Given the description of an element on the screen output the (x, y) to click on. 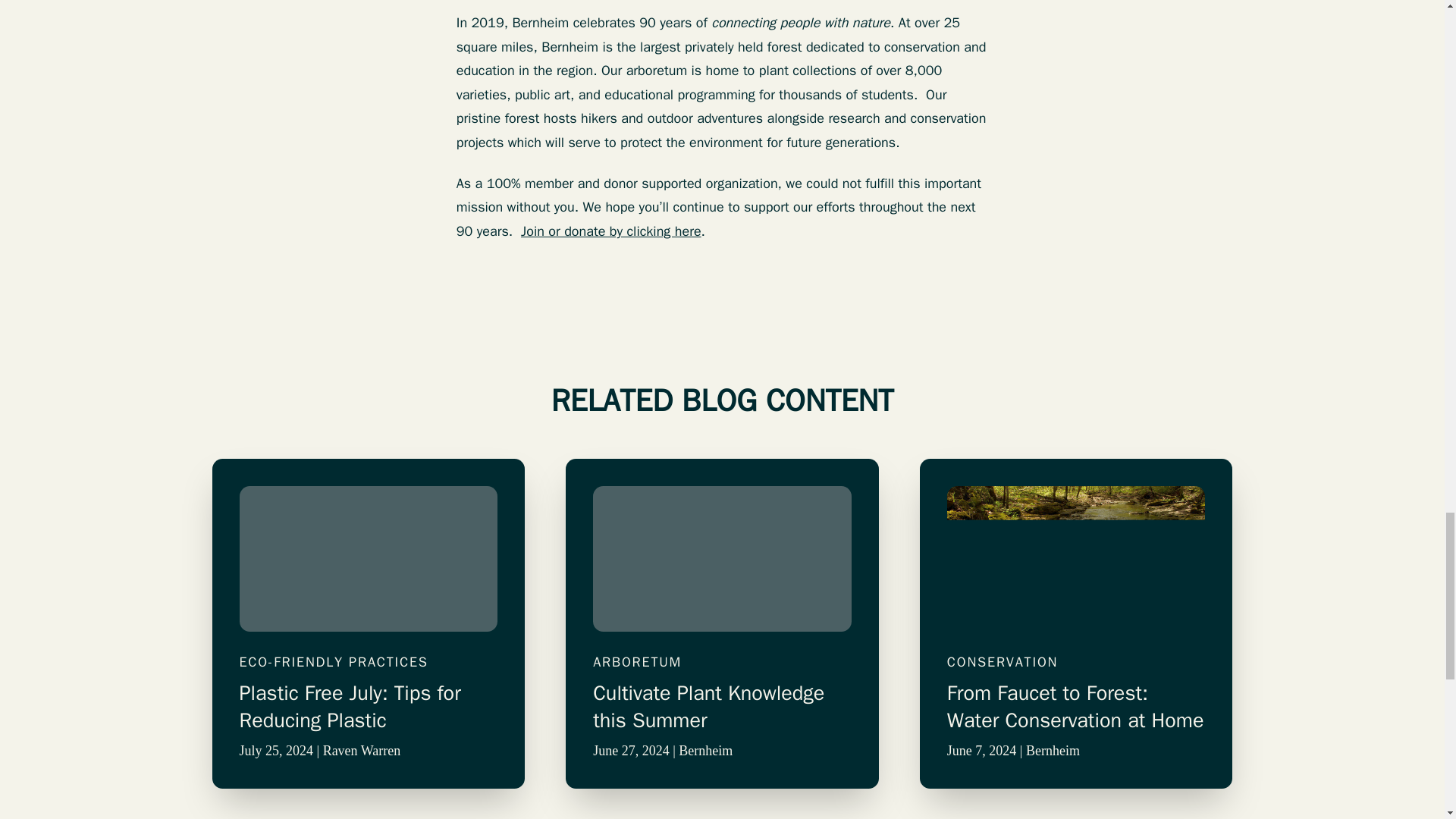
CONSERVATION (1076, 661)
Join or donate by clicking here (611, 230)
Plastic Free July: Tips for Reducing Plastic (368, 706)
From Faucet to Forest: Water Conservation at Home (1076, 706)
ARBORETUM (721, 661)
Cultivate Plant Knowledge this Summer (721, 706)
Bernheim (705, 750)
Bernheim (1053, 750)
Raven Warren (362, 750)
ECO-FRIENDLY PRACTICES (368, 661)
